Given the description of an element on the screen output the (x, y) to click on. 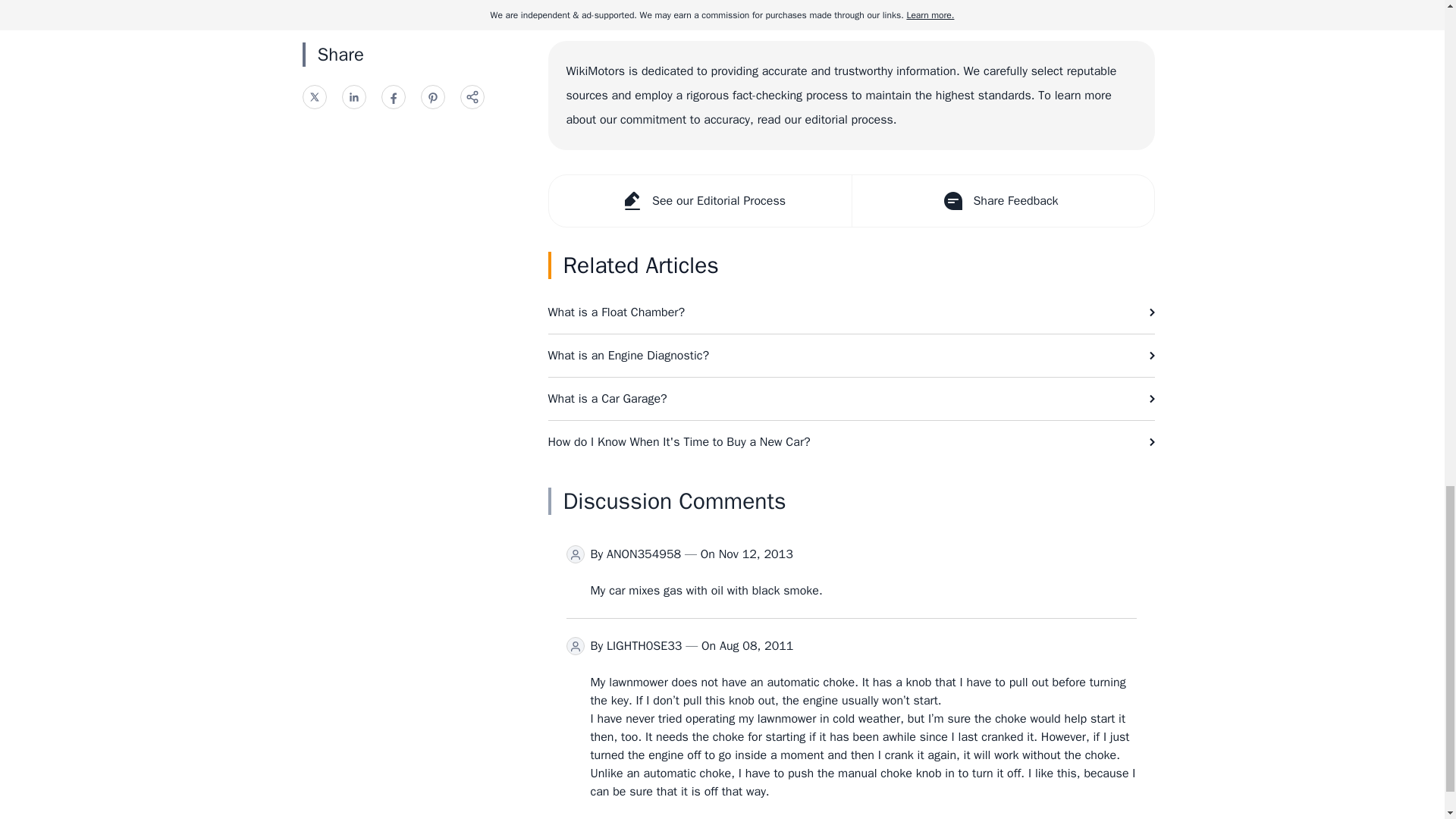
What is an Engine Diagnostic? (850, 355)
What is a Car Garage? (850, 398)
See our Editorial Process (699, 200)
How do I Know When It's Time to Buy a New Car? (850, 441)
What is a Float Chamber? (850, 312)
Share Feedback (1001, 200)
